Given the description of an element on the screen output the (x, y) to click on. 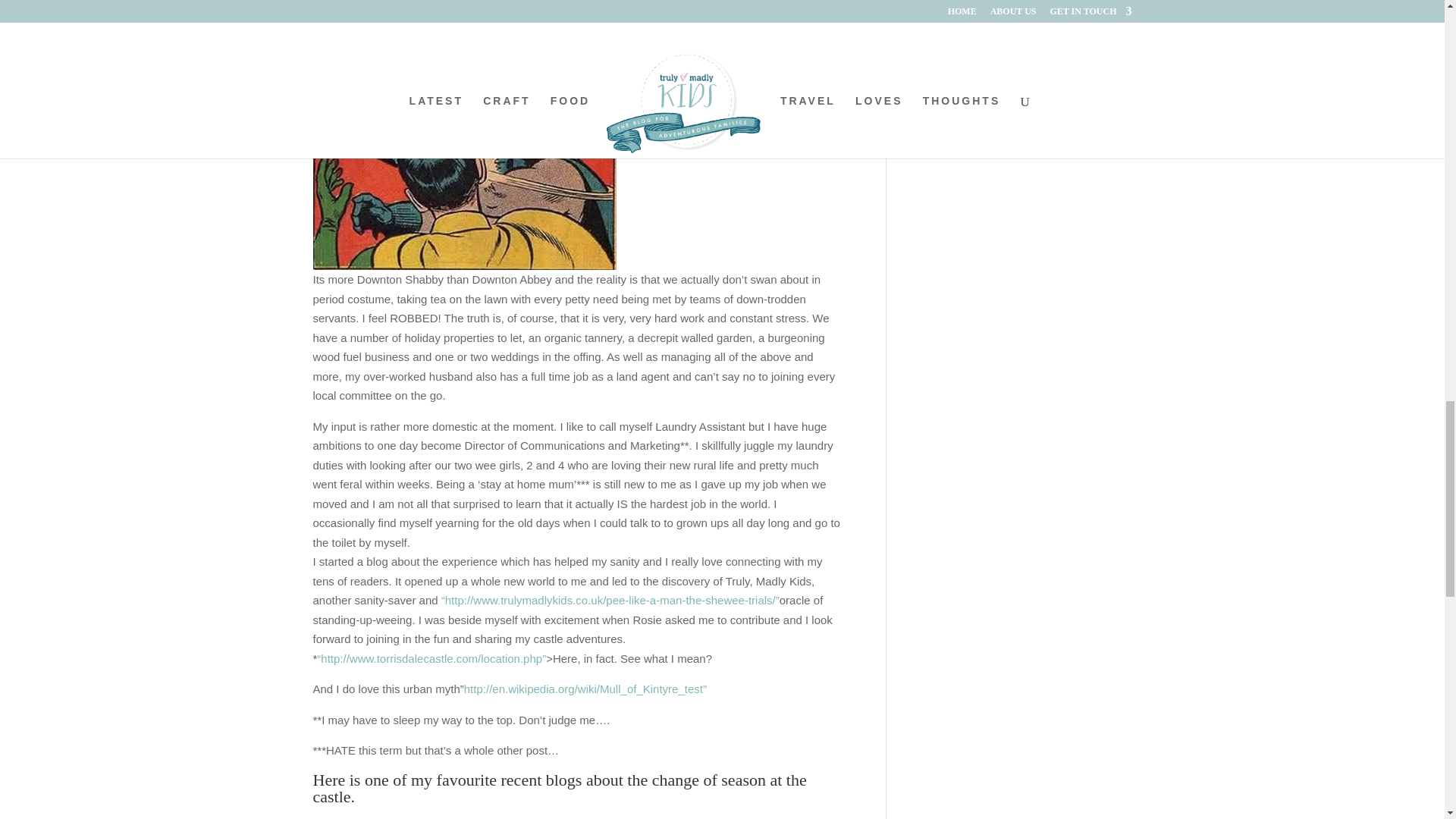
Mull of Kintyre test (585, 688)
Walk like a lady, pee like a man (608, 599)
Torrisdale Castle location (431, 658)
